Given the description of an element on the screen output the (x, y) to click on. 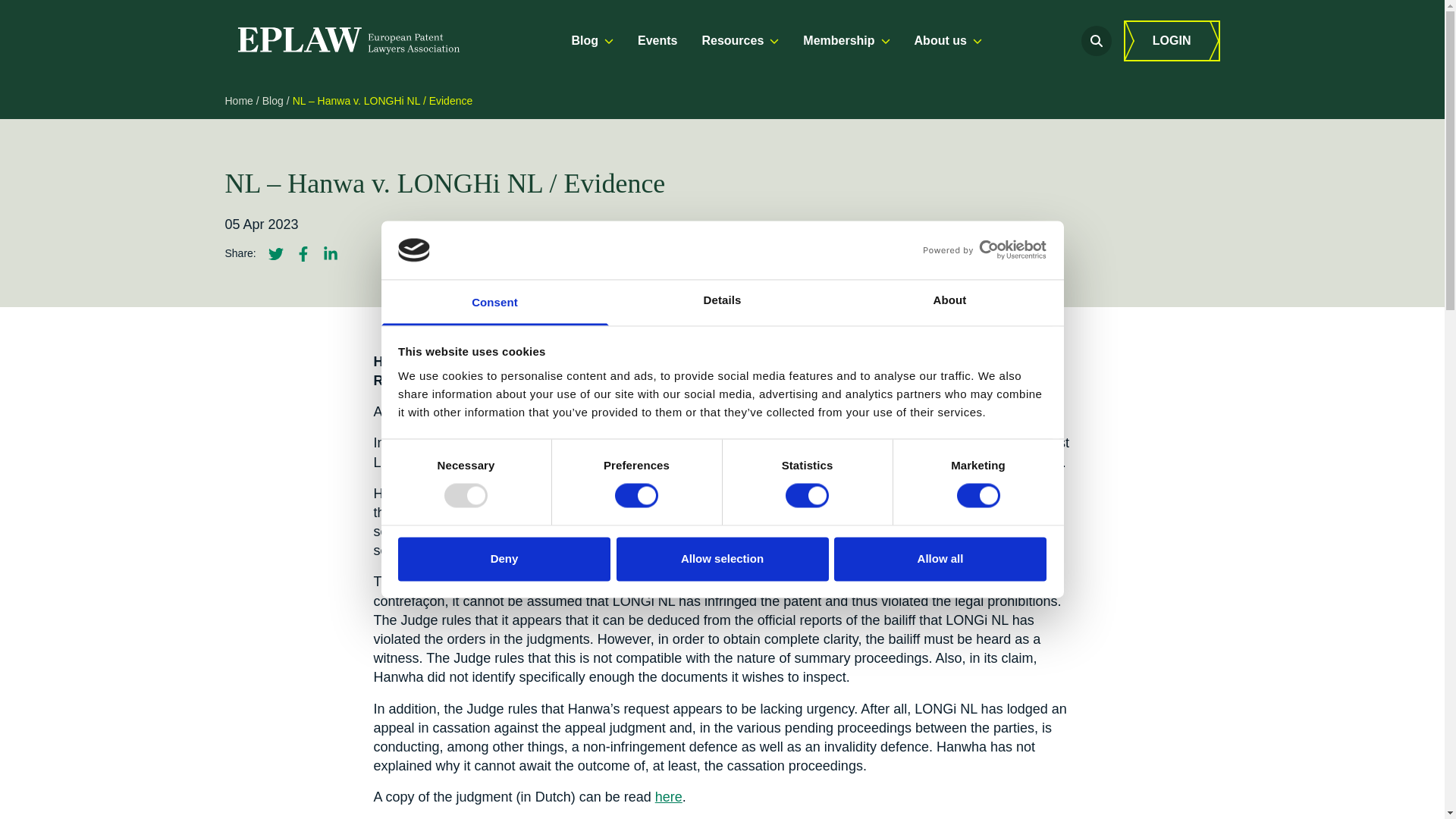
Open search form (1096, 40)
Deny (503, 558)
Allow selection (721, 558)
About (948, 302)
Consent (494, 302)
Resources (739, 41)
Details (721, 302)
Allow all (940, 558)
EPLAW (347, 40)
